Given the description of an element on the screen output the (x, y) to click on. 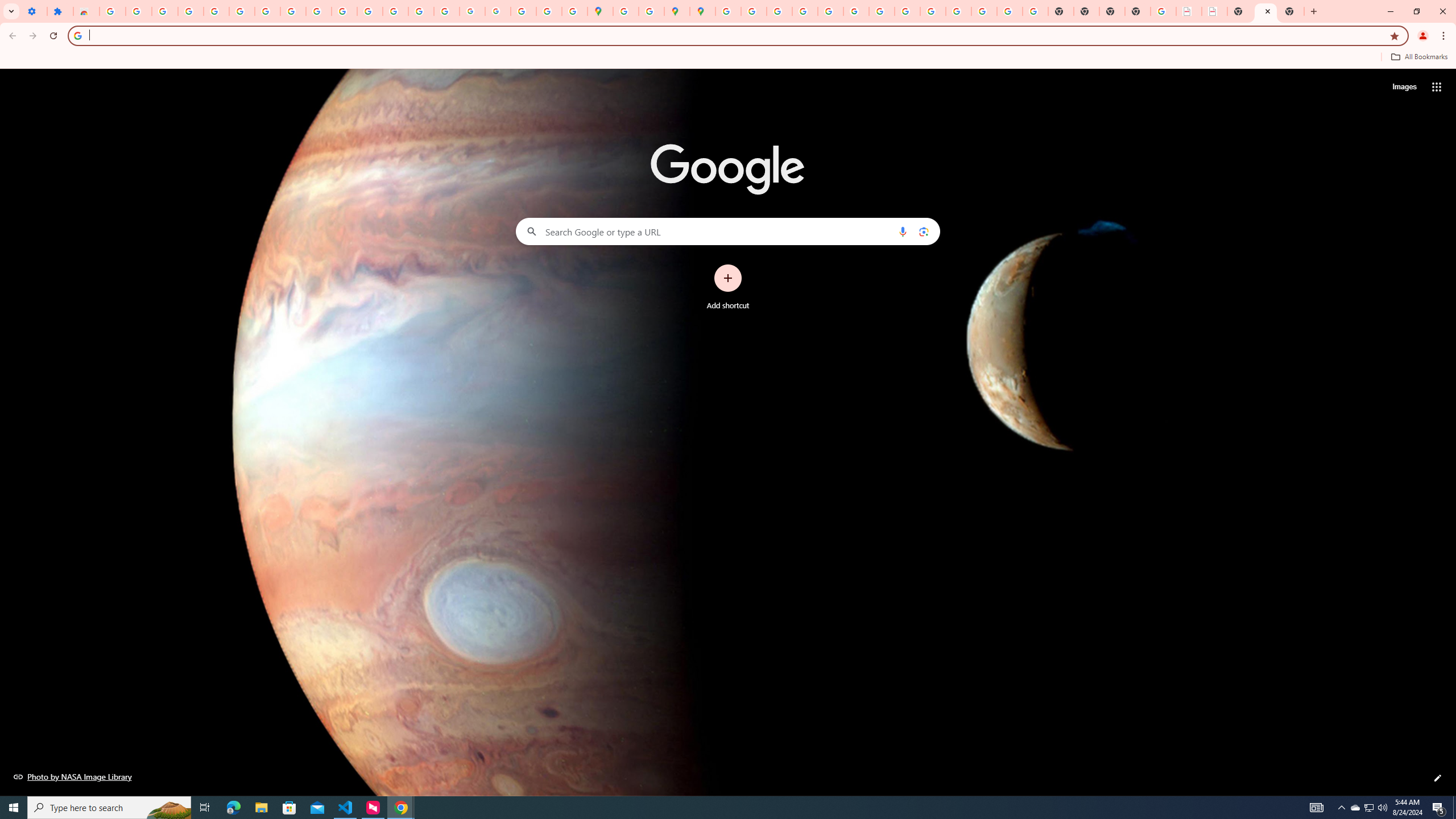
New Tab (1291, 11)
Photo by NASA Image Library (72, 776)
Search for Images  (1403, 87)
YouTube (881, 11)
